Given the description of an element on the screen output the (x, y) to click on. 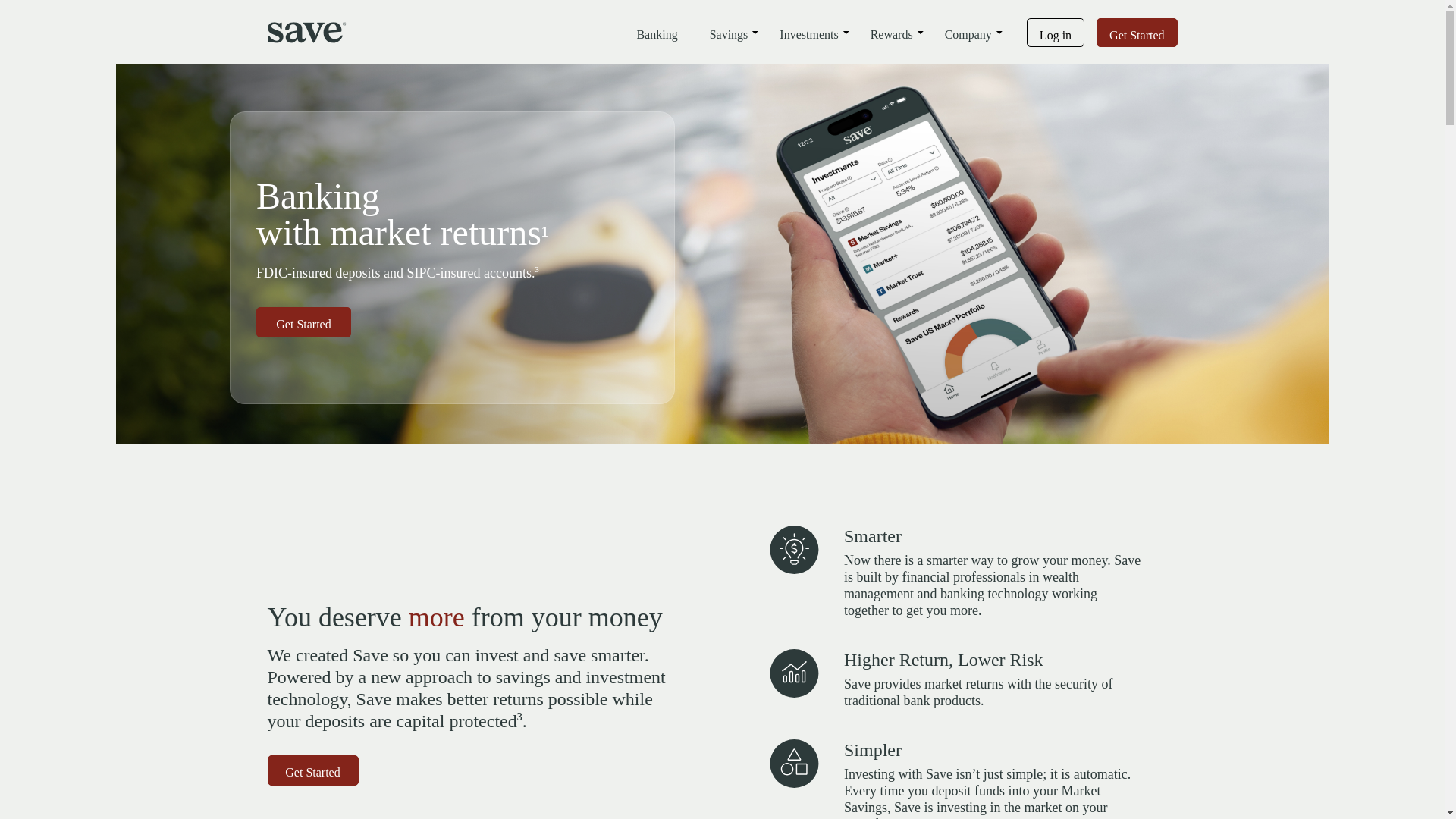
Get Started (303, 322)
Savings (728, 31)
Get Started (1136, 32)
Help widget launcher (75, 781)
Company (968, 31)
Get Started (312, 770)
Banking (656, 31)
save (306, 31)
Rewards (891, 31)
Log in (1055, 32)
Investments (808, 31)
